Given the description of an element on the screen output the (x, y) to click on. 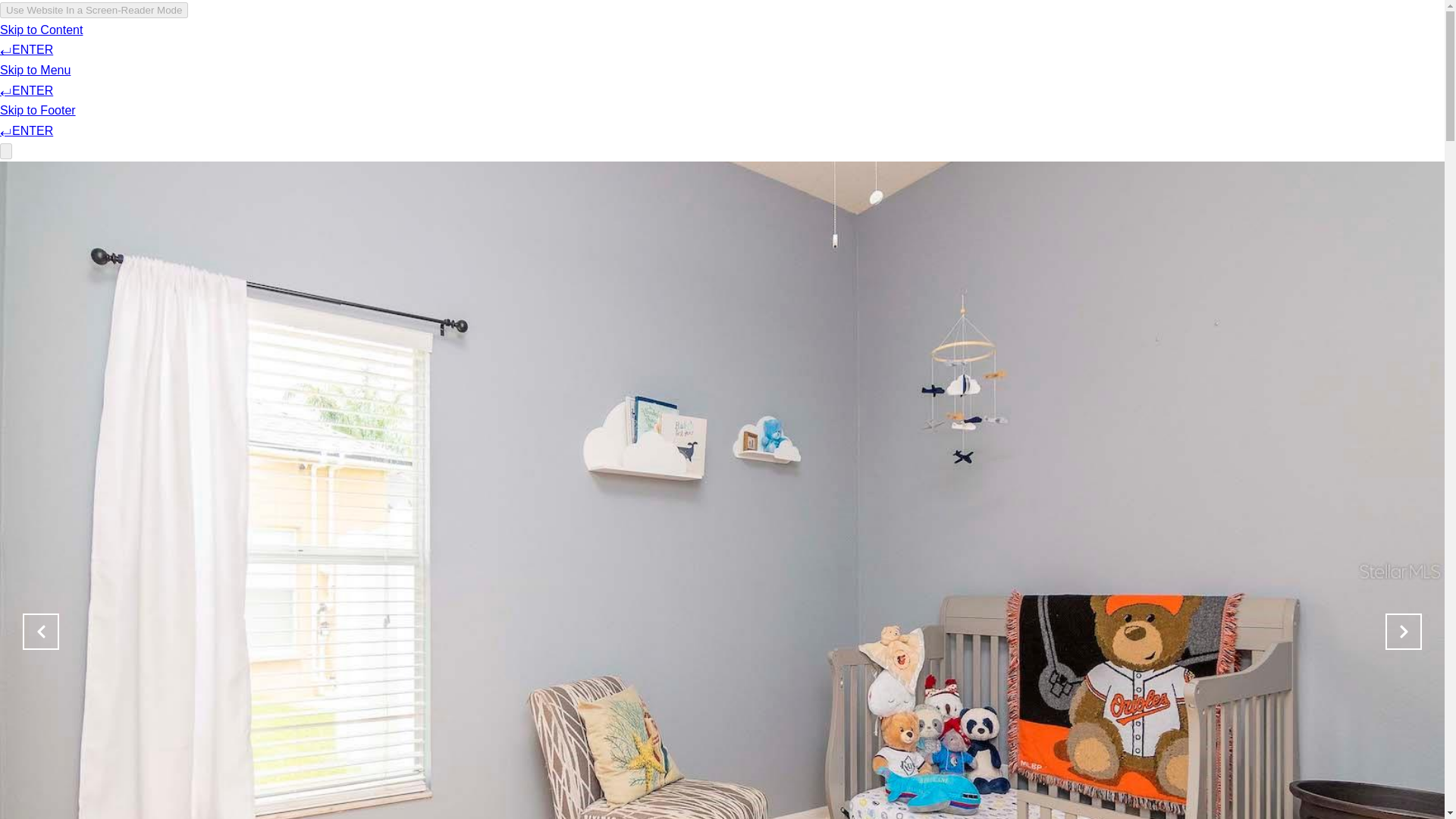
SELL YOUR HOME (839, 55)
LET'S CONNECT (1046, 55)
PORTFOLIO (946, 55)
